Given the description of an element on the screen output the (x, y) to click on. 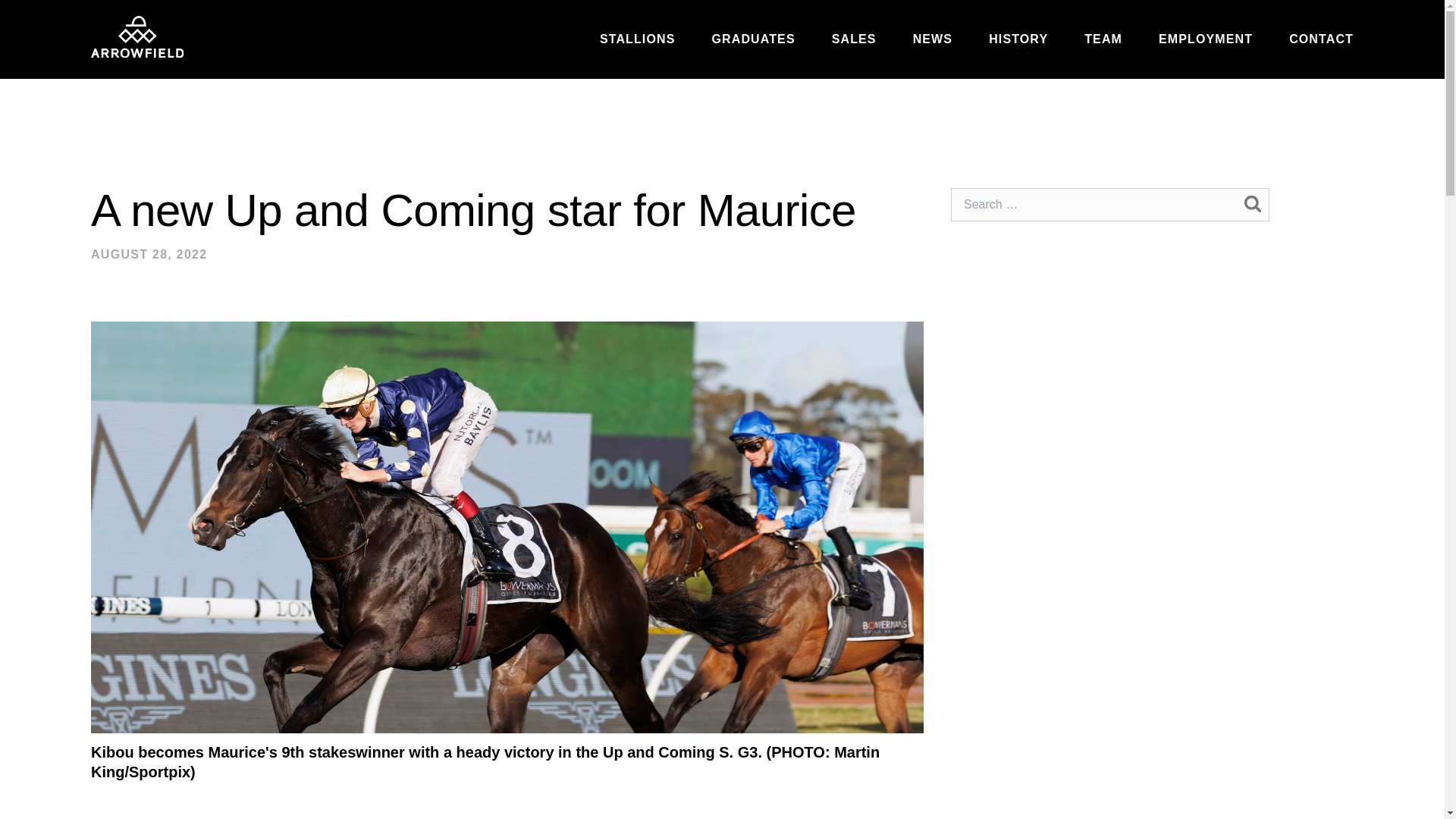
GRADUATES (752, 39)
HISTORY (1018, 39)
CONTACT (1321, 39)
STALLIONS (637, 39)
NEWS (932, 39)
SALES (853, 39)
Return to the homepage (136, 36)
TEAM (1103, 39)
EMPLOYMENT (1205, 39)
